Given the description of an element on the screen output the (x, y) to click on. 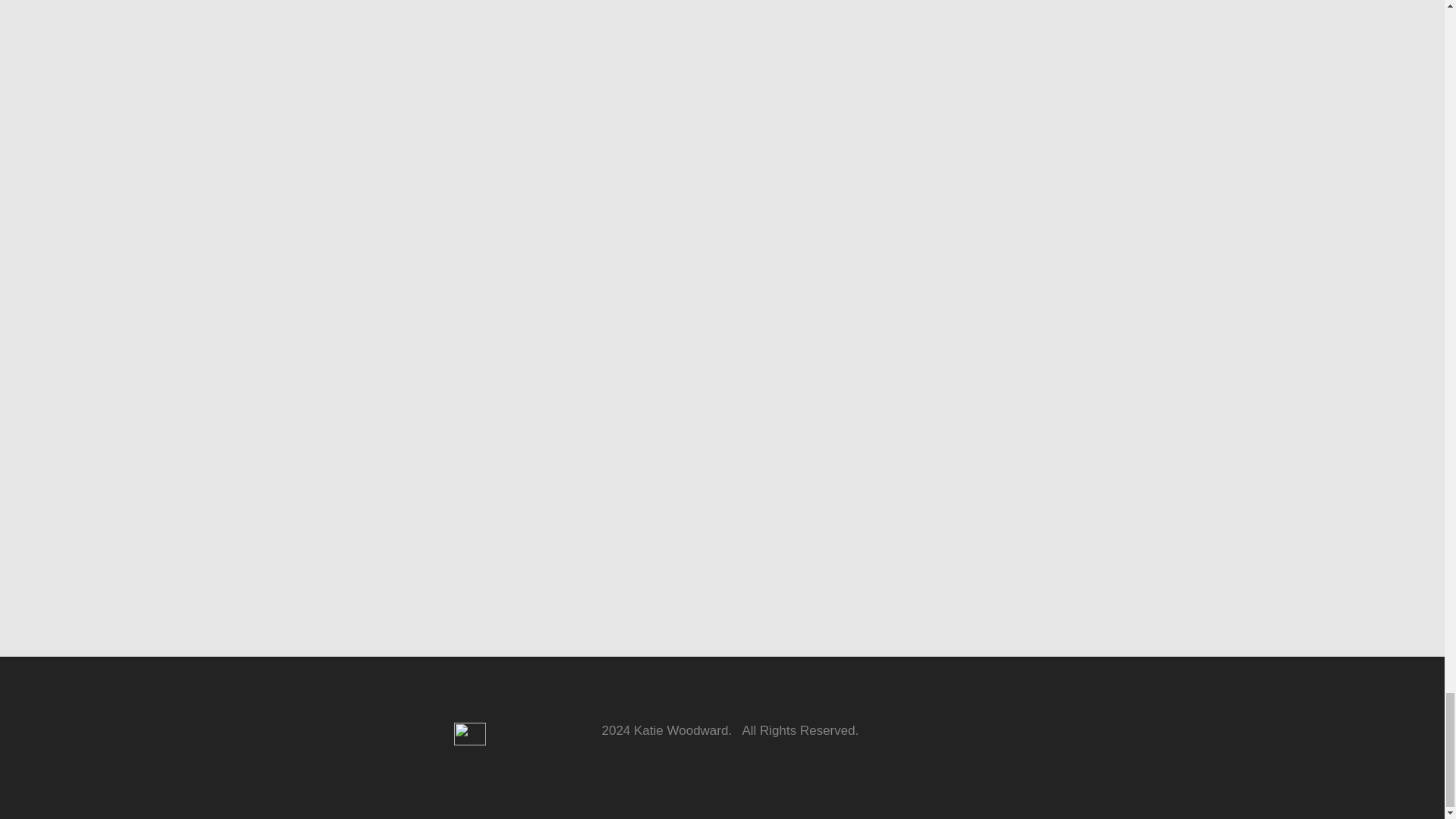
Screen shot 2015-12-27 at 11.38.44 AM.png (468, 733)
